Given the description of an element on the screen output the (x, y) to click on. 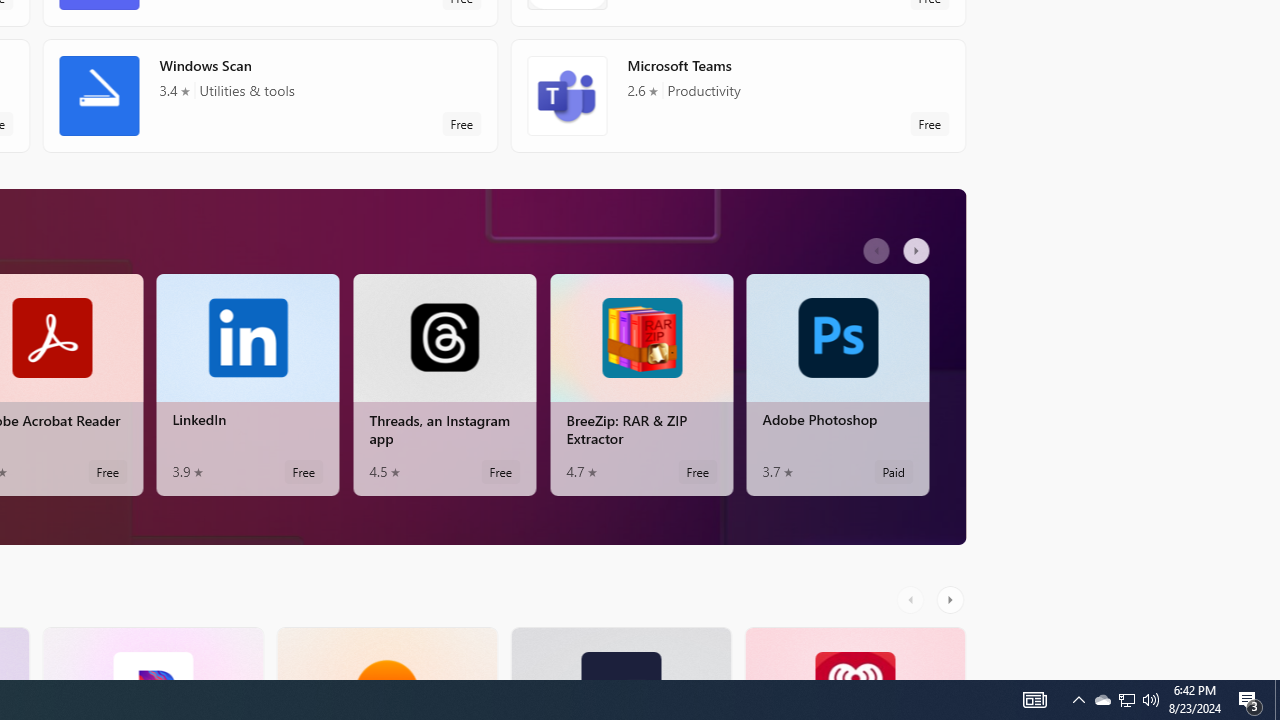
AutomationID: LeftScrollButton (913, 599)
AutomationID: RightScrollButton (952, 599)
LinkedIn. Average rating of 3.9 out of five stars. Free   (247, 384)
Pandora. Average rating of 4.5 out of five stars. Free   (152, 653)
